Given the description of an element on the screen output the (x, y) to click on. 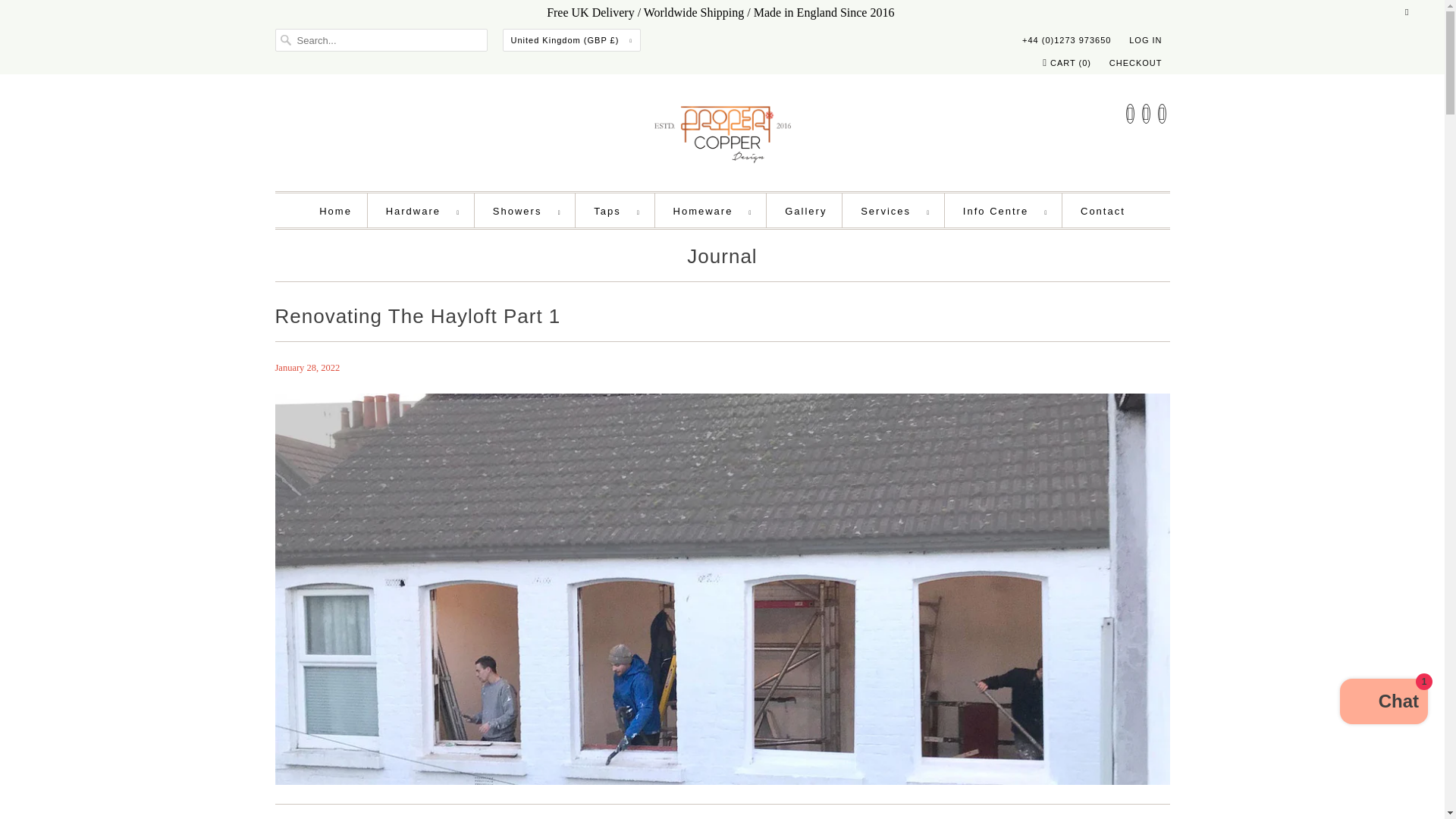
Proper Copper Design on Instagram (1145, 114)
Journal (722, 259)
Email Proper Copper Design (1161, 114)
Proper Copper Design on Pinterest (1129, 114)
Proper Copper Design (722, 136)
